Given the description of an element on the screen output the (x, y) to click on. 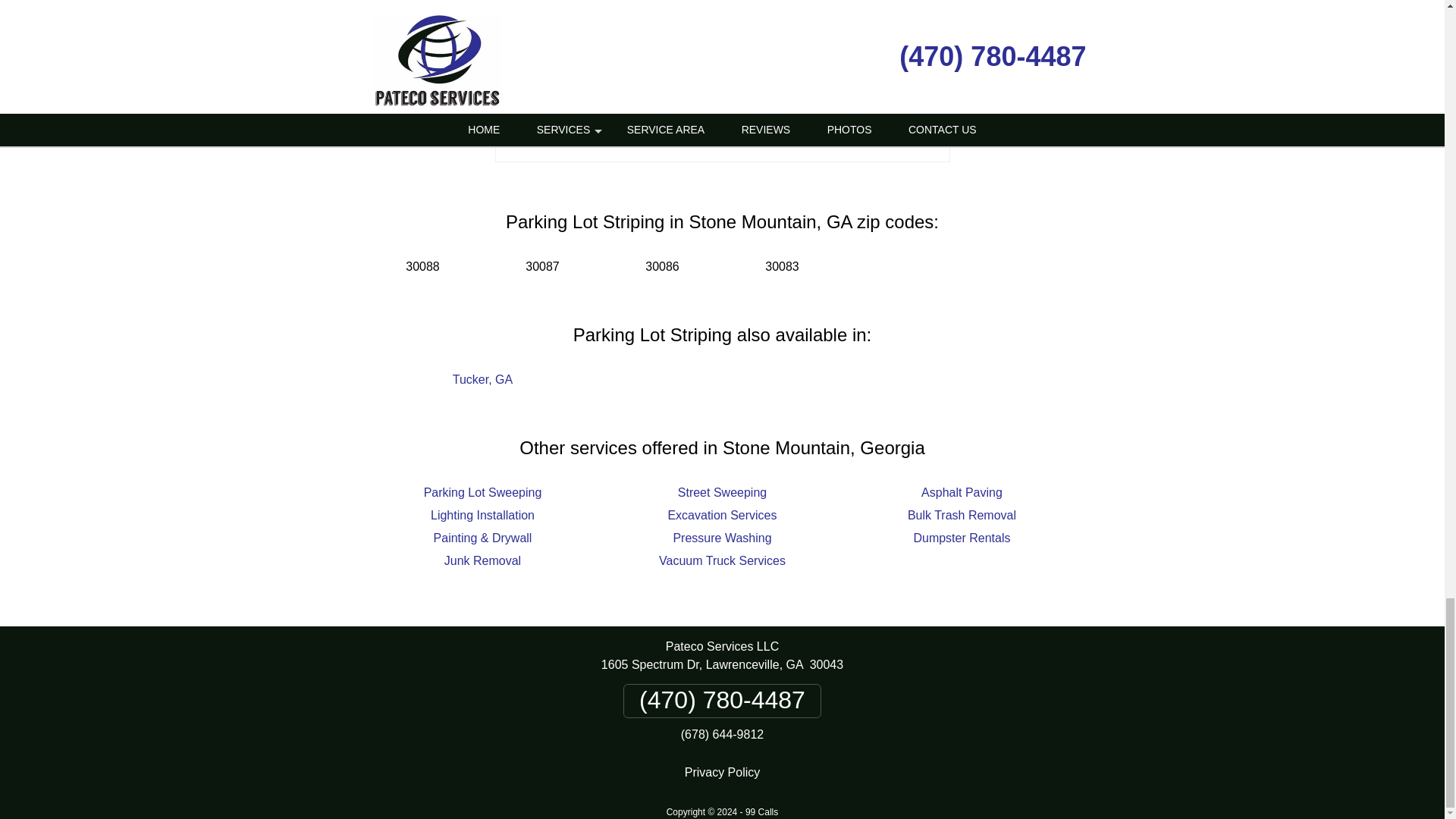
Google (694, 134)
Houzz (804, 134)
Street Sweeping (722, 492)
Bulk Trash Removal (961, 514)
Lighting Installation (482, 514)
Parking Lot Sweeping (482, 492)
Tucker, GA (482, 379)
Asphalt Paving (962, 492)
Dumpster Rentals (961, 537)
Pressure Washing (721, 537)
Junk Removal (482, 560)
Excavation Services (721, 514)
Facebook (638, 134)
Yelp (749, 134)
